Given the description of an element on the screen output the (x, y) to click on. 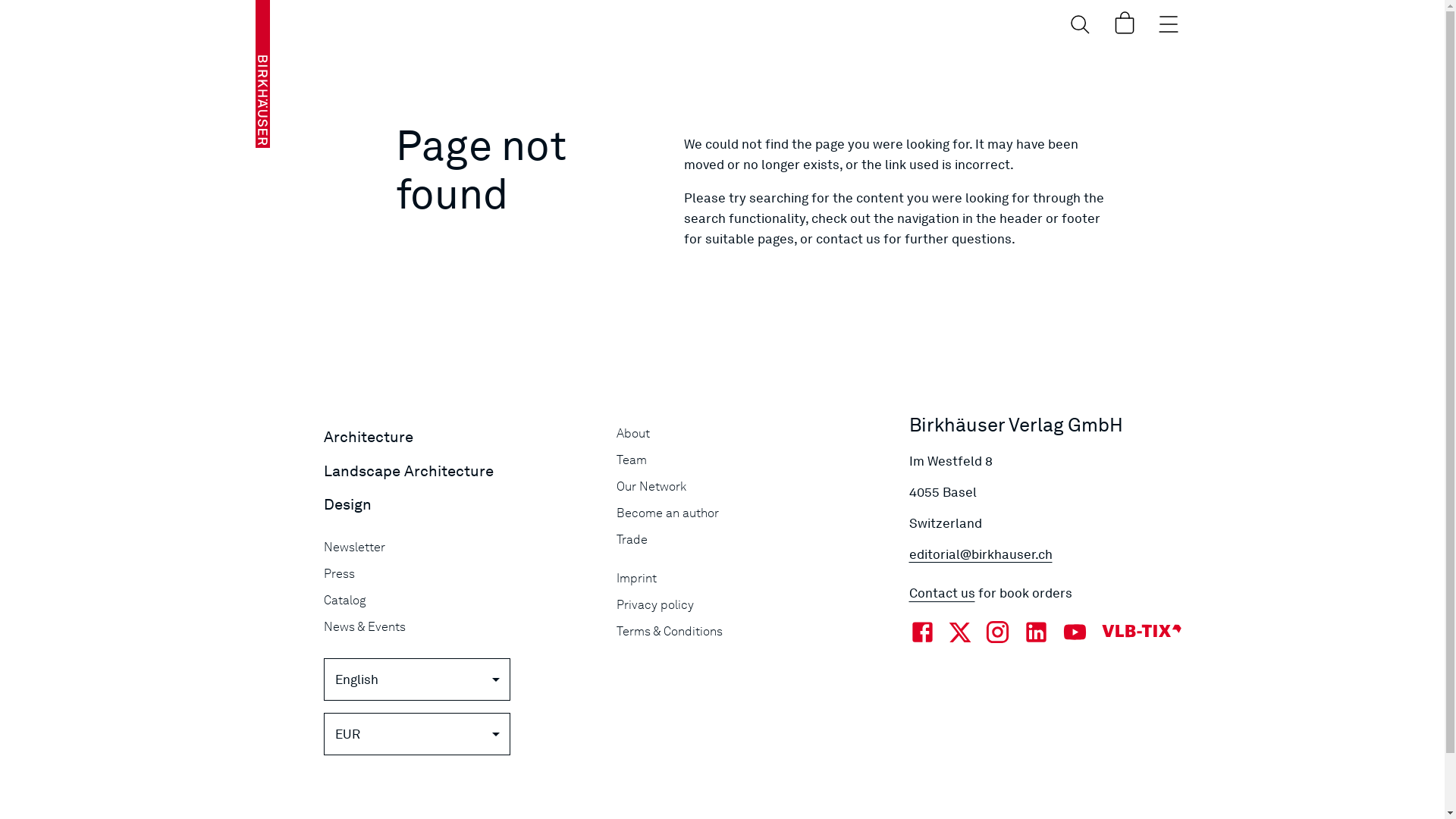
Landscape Architecture Element type: text (407, 471)
Privacy policy Element type: text (755, 604)
Newsletter Element type: text (463, 546)
Architecture Element type: text (367, 437)
Catalog Element type: text (463, 599)
Become an author Element type: text (755, 512)
Press Element type: text (463, 573)
Design Element type: text (346, 504)
News & Events Element type: text (463, 626)
Team Element type: text (755, 459)
editorial@birkhauser.ch Element type: text (1048, 554)
Trade Element type: text (755, 539)
Imprint Element type: text (755, 577)
Contact us Element type: text (941, 592)
0 Element type: text (1123, 22)
Terms & Conditions Element type: text (755, 631)
About Element type: text (755, 433)
Our Network Element type: text (755, 486)
